Given the description of an element on the screen output the (x, y) to click on. 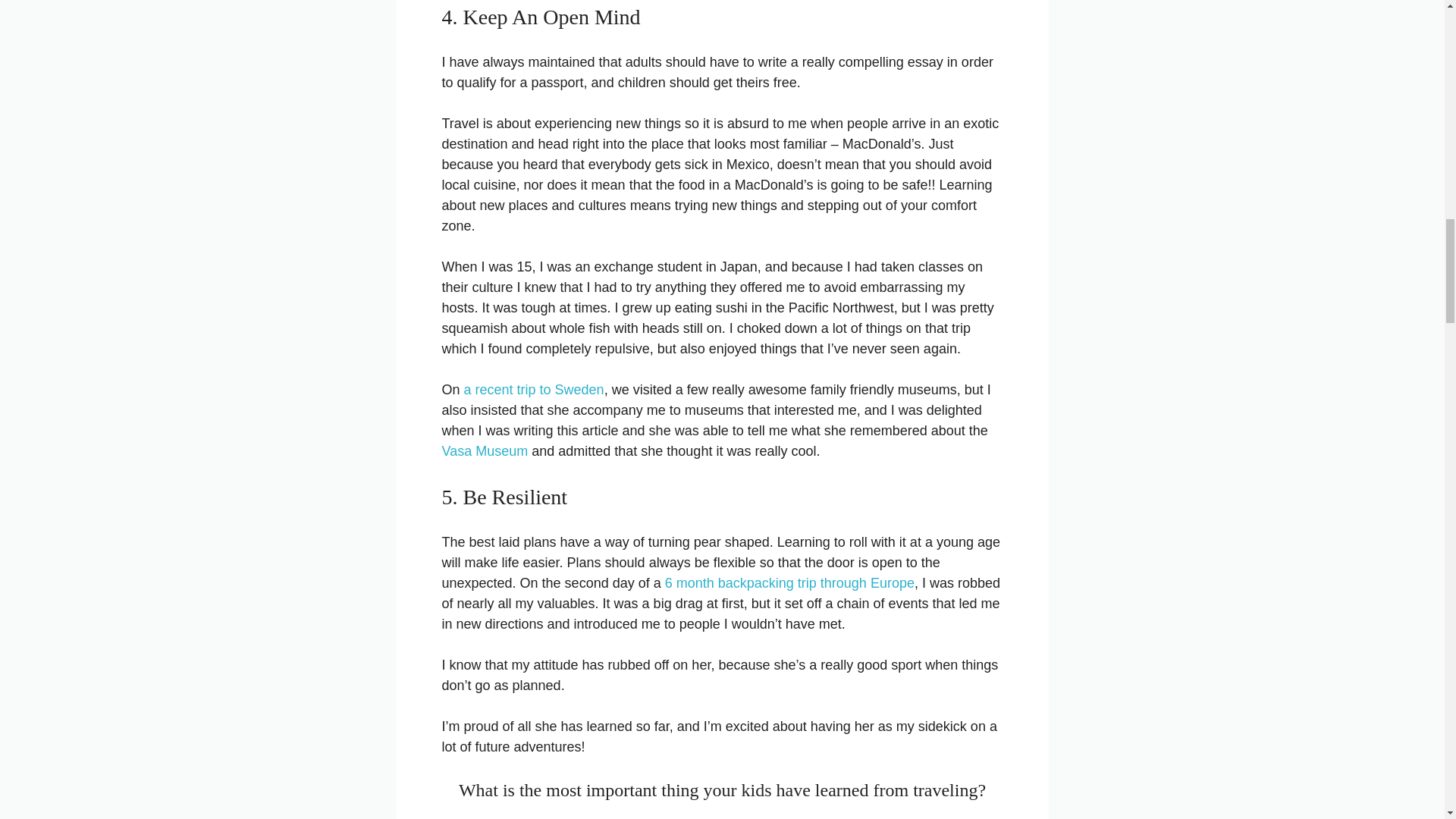
6 month backpacking trip through Europe (789, 582)
Vasa Museum (484, 450)
a recent trip to Sweden (534, 389)
